Given the description of an element on the screen output the (x, y) to click on. 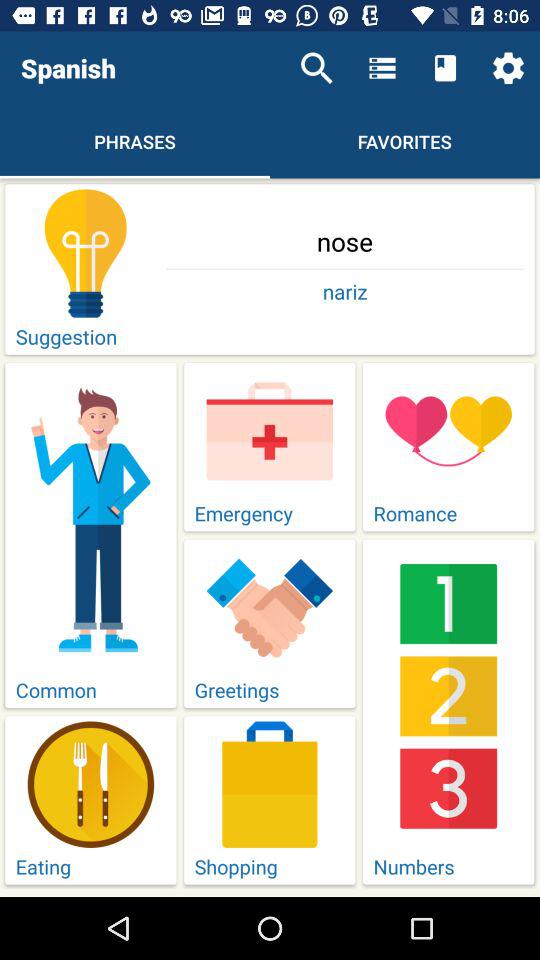
select the icon above the favorites (444, 67)
